Given the description of an element on the screen output the (x, y) to click on. 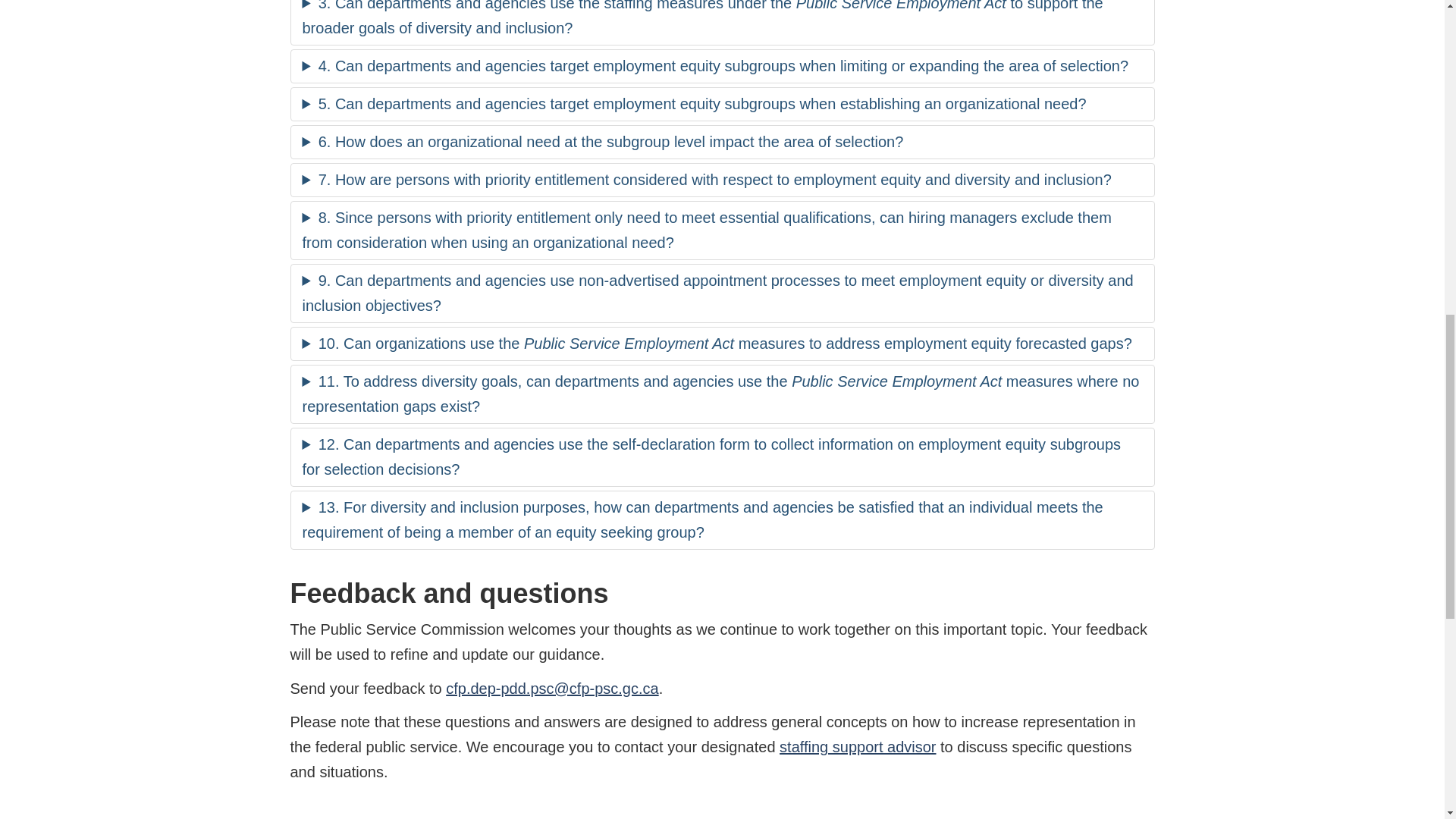
staffing support advisor (857, 746)
